Given the description of an element on the screen output the (x, y) to click on. 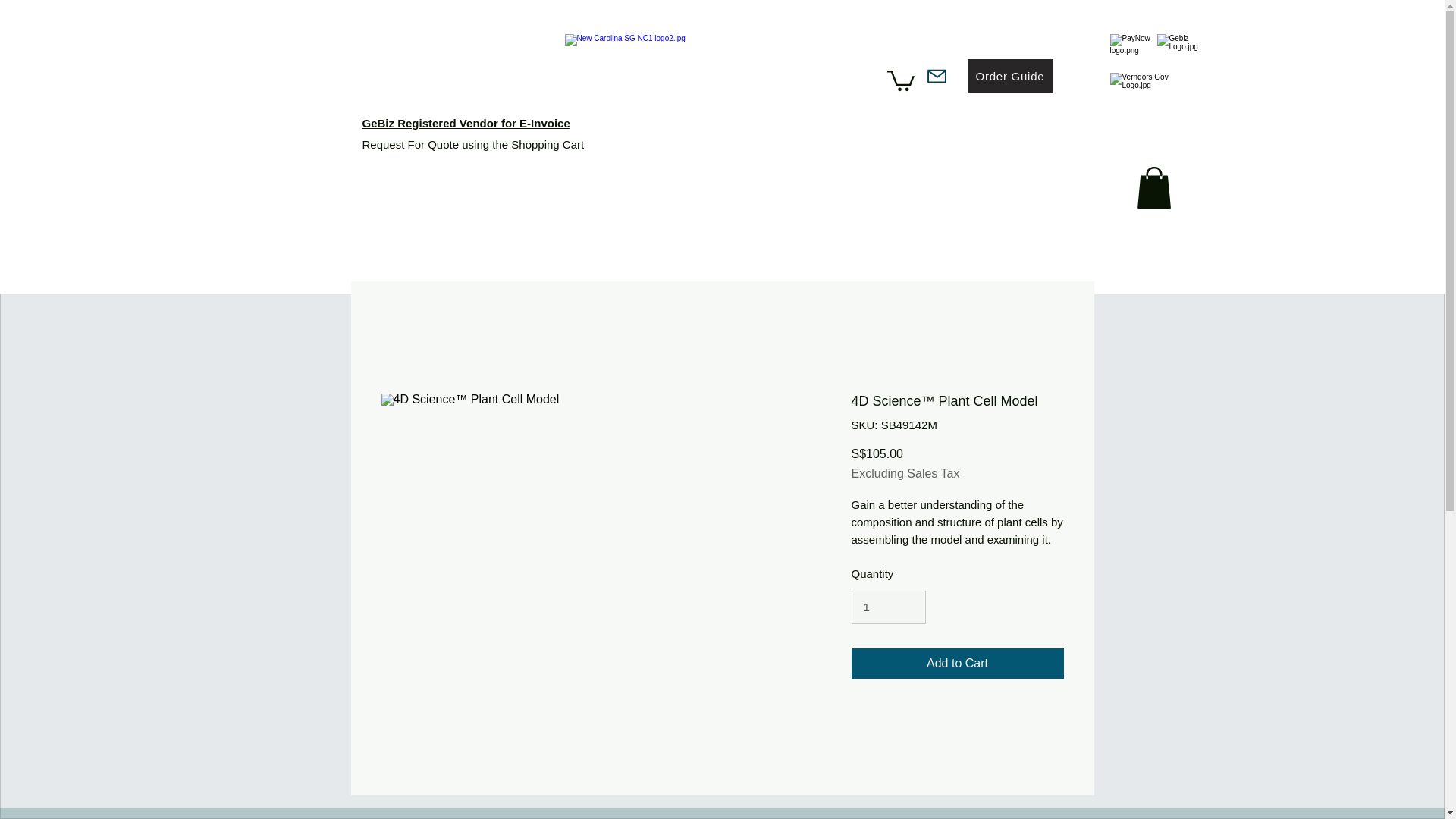
1 (887, 607)
Order Guide (1010, 75)
GeBiz Registered Vendor for E-Invoice (466, 123)
